Given the description of an element on the screen output the (x, y) to click on. 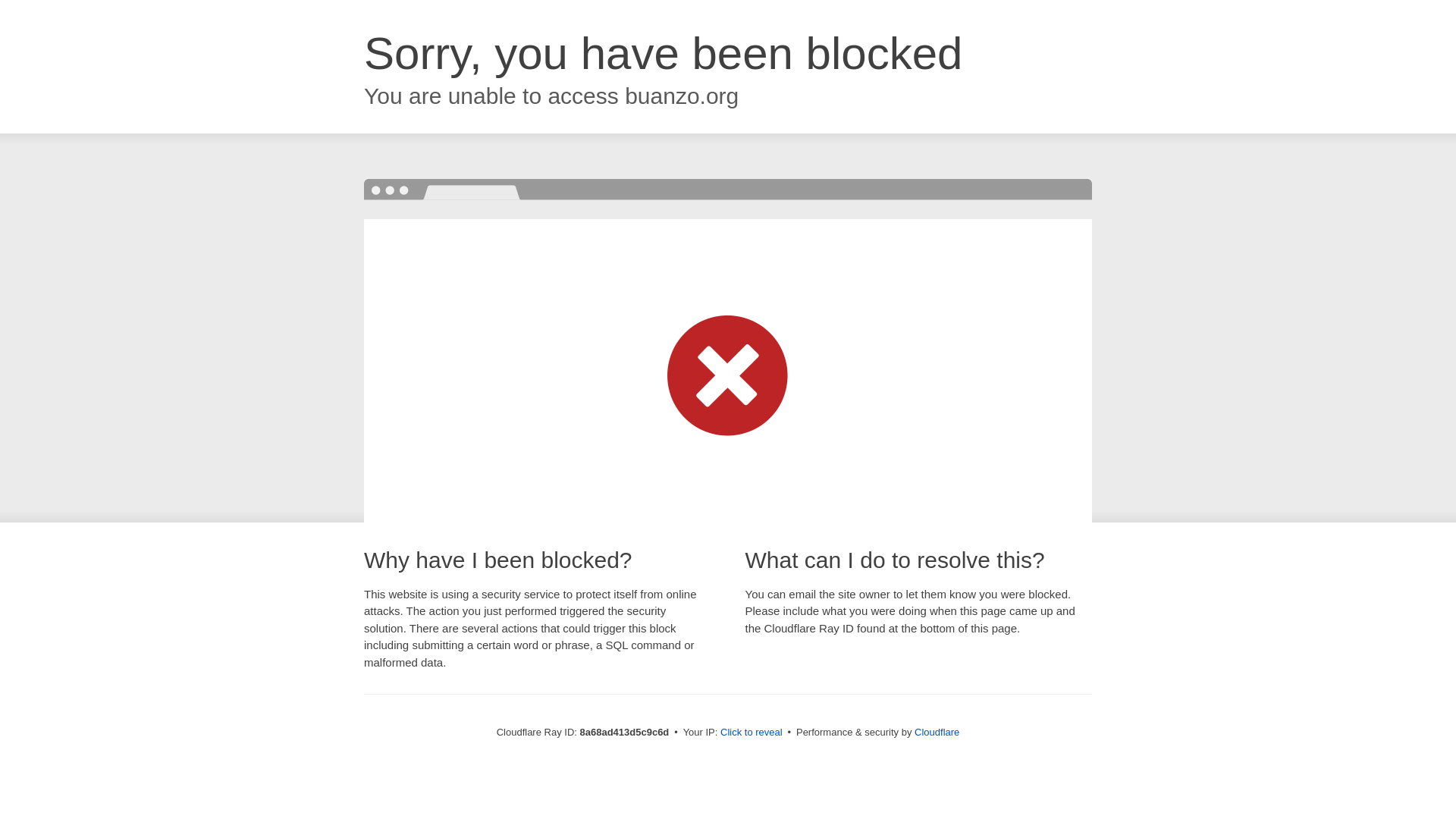
Click to reveal (751, 732)
Cloudflare (936, 731)
